Given the description of an element on the screen output the (x, y) to click on. 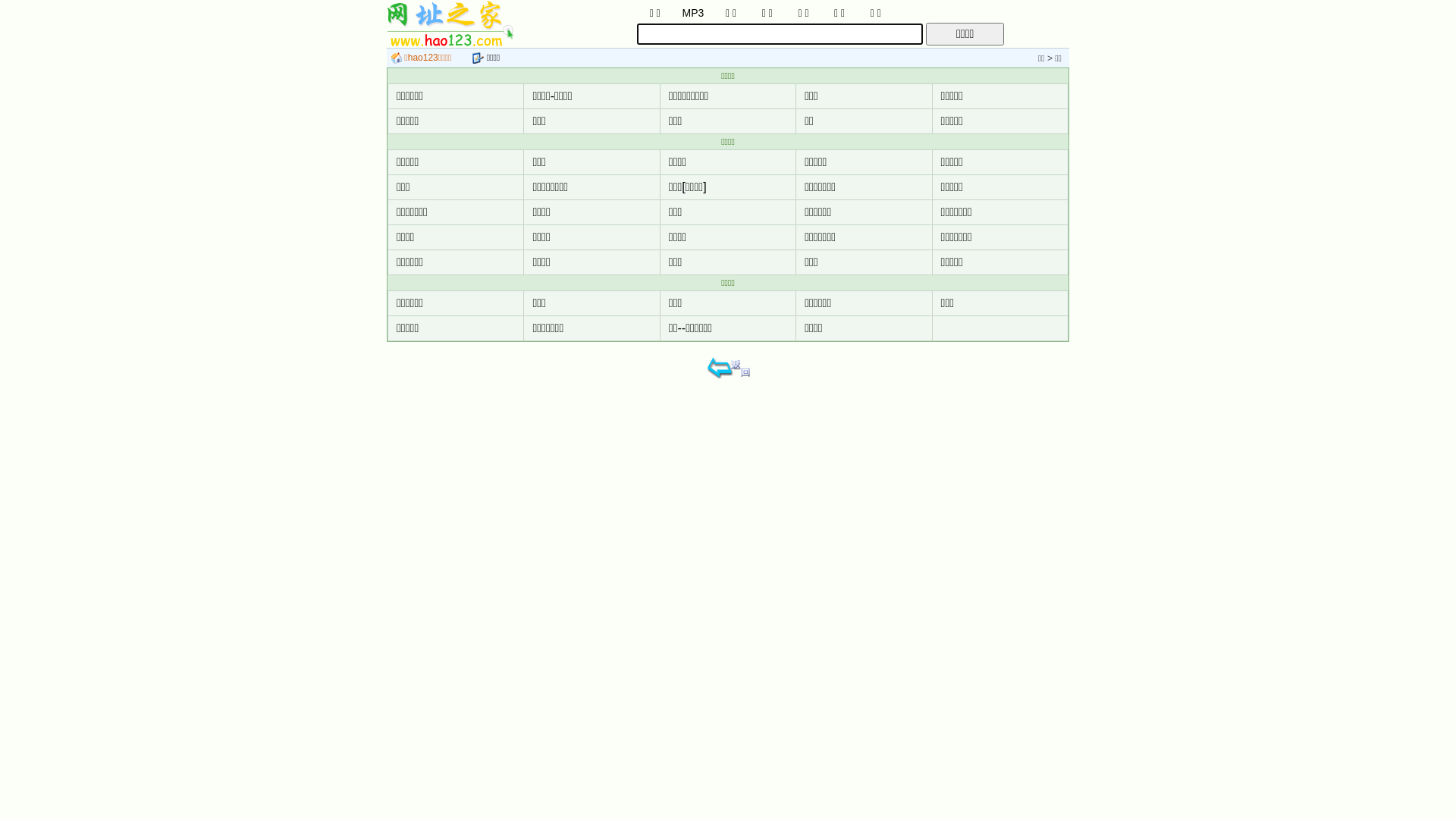
MP3 Element type: text (692, 11)
